Given the description of an element on the screen output the (x, y) to click on. 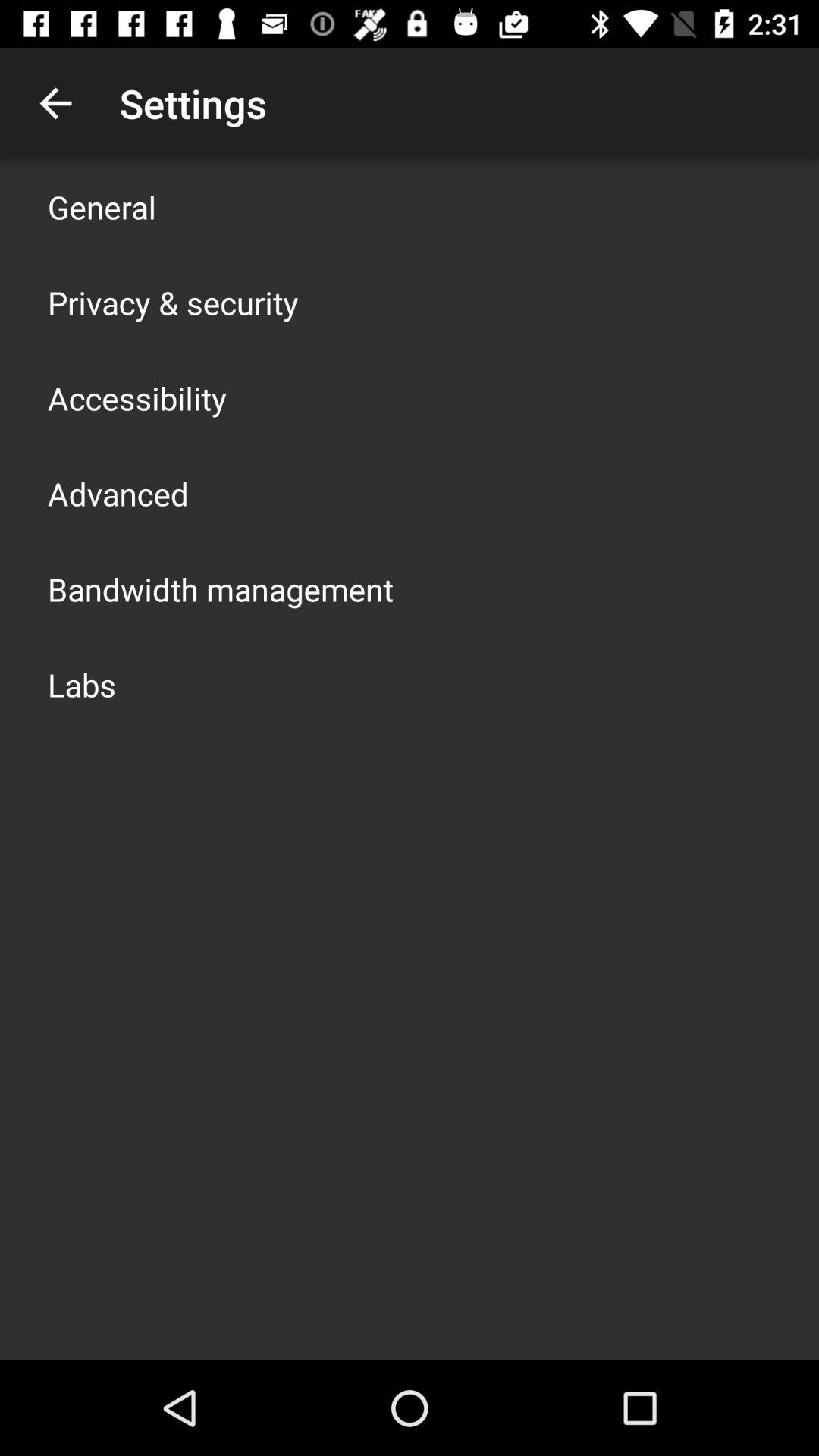
click the item above the privacy & security item (101, 206)
